Given the description of an element on the screen output the (x, y) to click on. 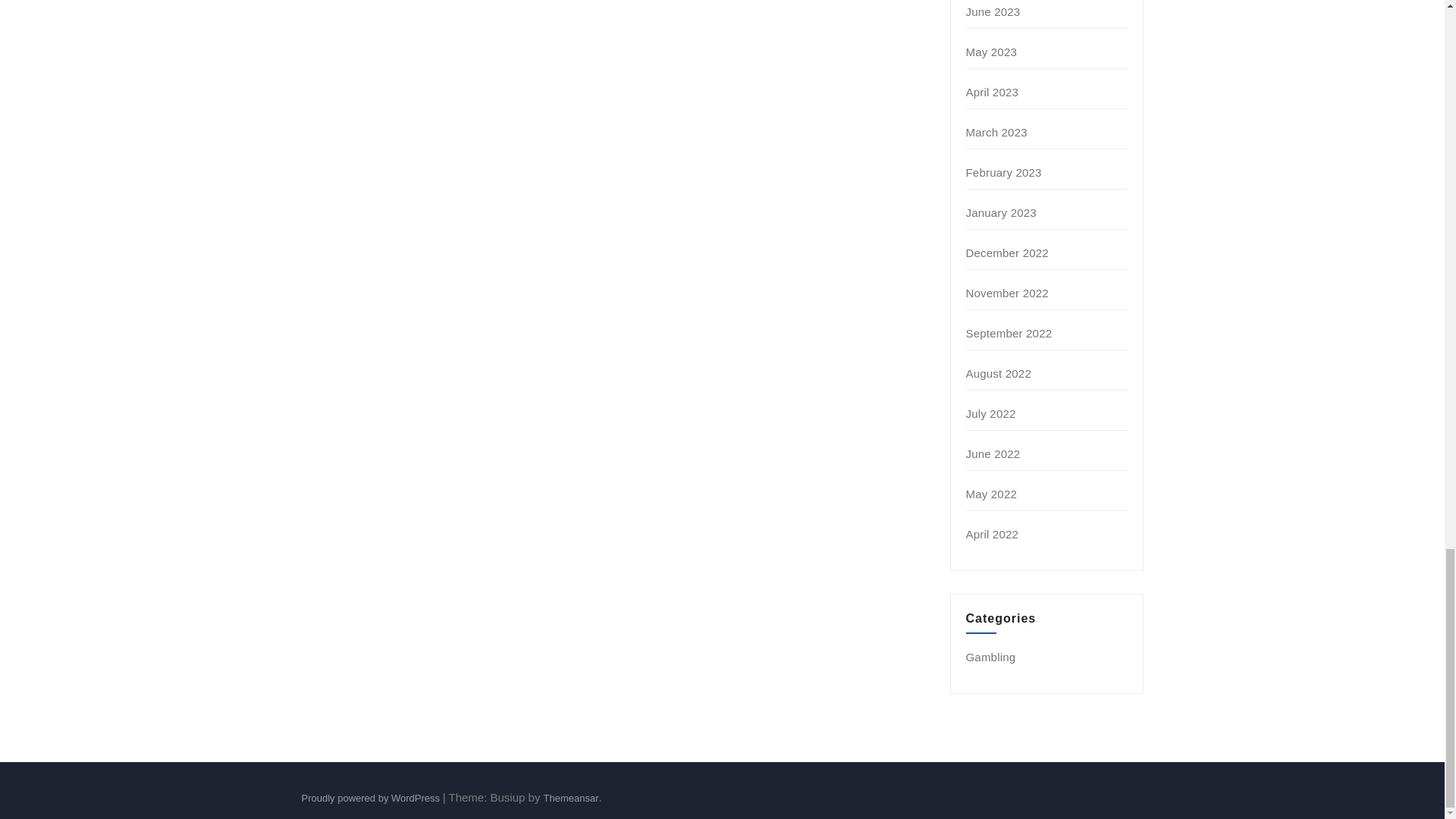
May 2023 (991, 51)
April 2023 (992, 91)
June 2023 (993, 11)
February 2023 (1004, 172)
March 2023 (996, 132)
